Given the description of an element on the screen output the (x, y) to click on. 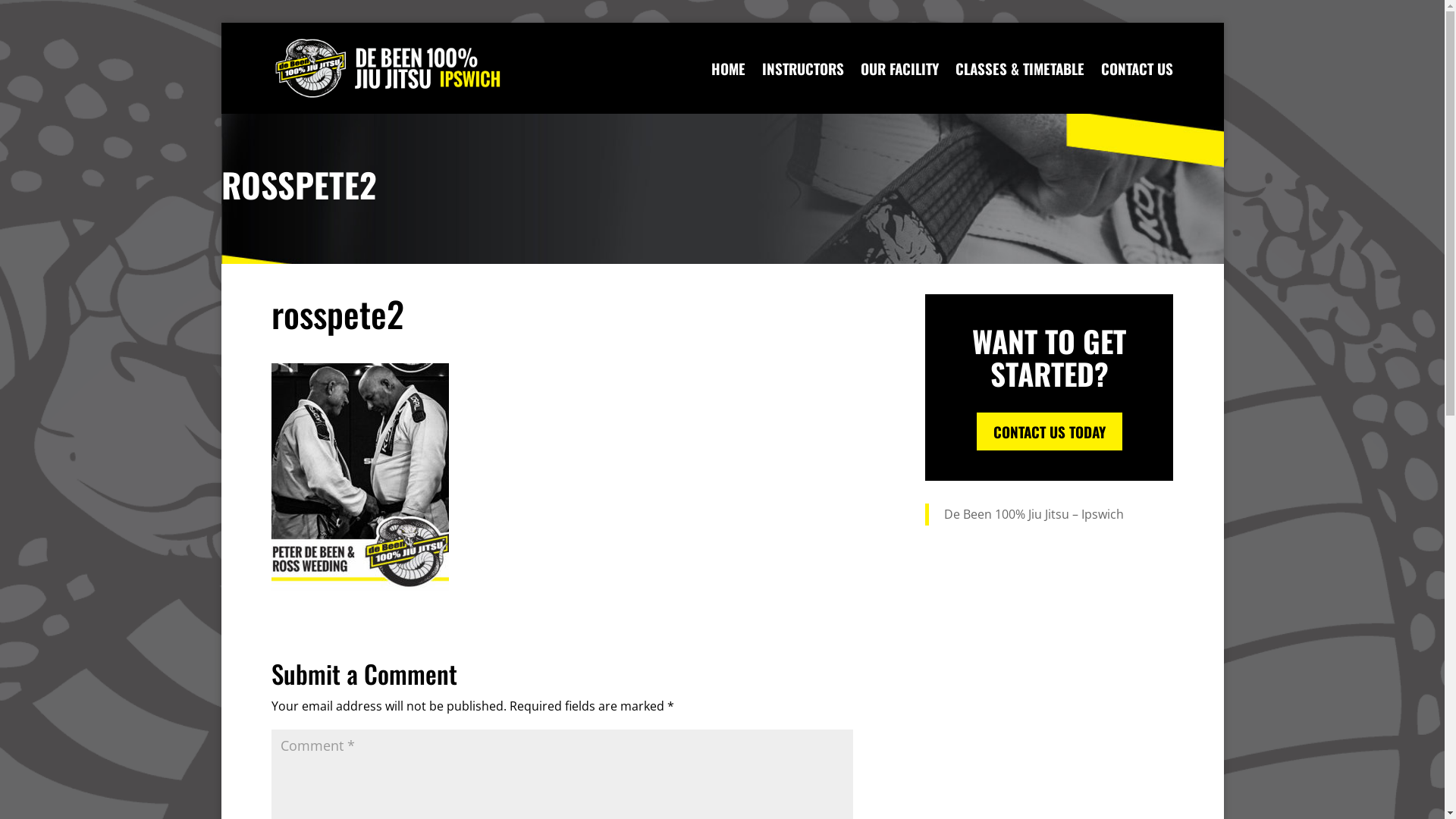
CLASSES & TIMETABLE Element type: text (1019, 87)
INSTRUCTORS Element type: text (803, 87)
HOME Element type: text (728, 87)
CONTACT US TODAY Element type: text (1049, 431)
CONTACT US Element type: text (1137, 87)
OUR FACILITY Element type: text (899, 87)
